Given the description of an element on the screen output the (x, y) to click on. 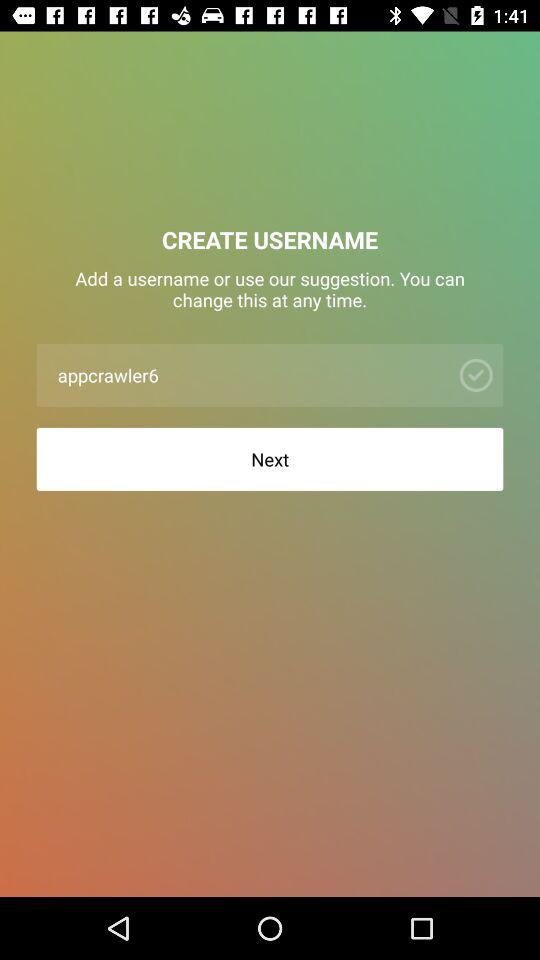
turn off item above the next icon (247, 374)
